Given the description of an element on the screen output the (x, y) to click on. 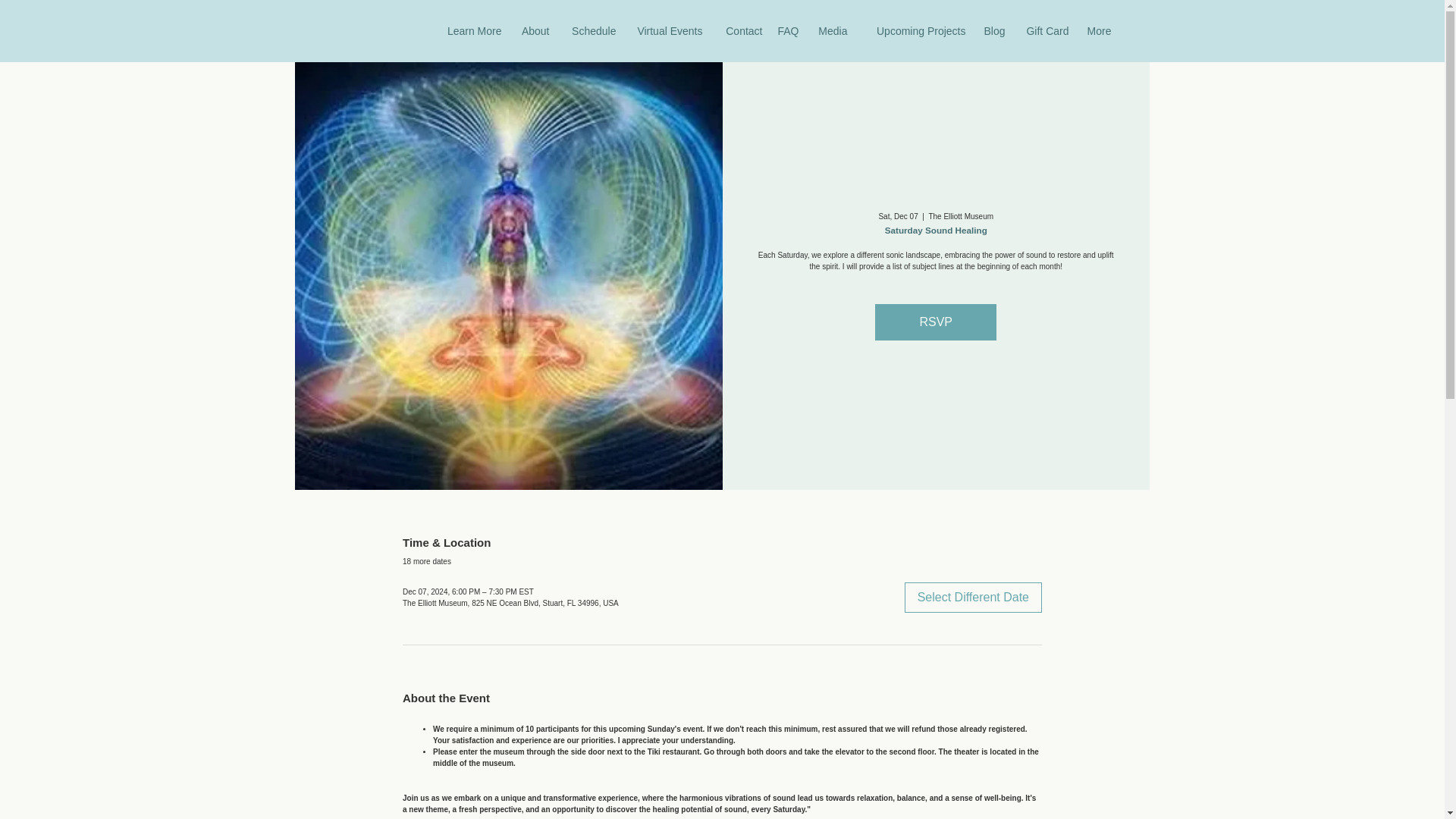
Blog (993, 30)
RSVP (935, 321)
About (533, 30)
Upcoming Projects (915, 30)
Virtual Events (666, 30)
Select Different Date (973, 597)
Contact (740, 30)
Gift Card (1045, 30)
FAQ (788, 30)
Schedule (589, 30)
Media (831, 30)
